Given the description of an element on the screen output the (x, y) to click on. 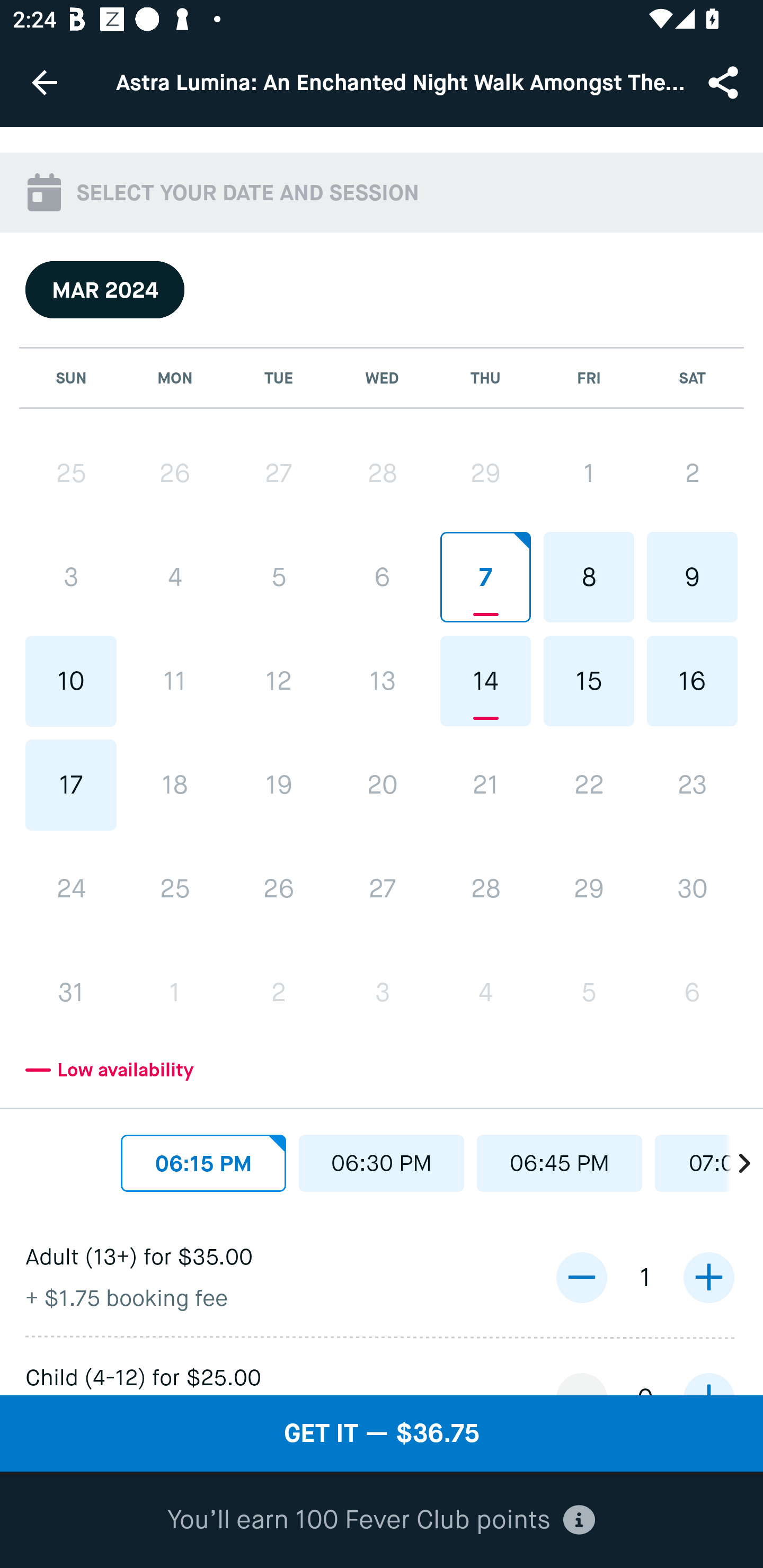
Navigate up (44, 82)
Share (724, 81)
MAR 2024 (104, 288)
25 (70, 473)
26 (174, 473)
27 (278, 473)
28 (382, 473)
29 (485, 473)
1 (588, 473)
2 (692, 473)
3 (70, 576)
4 (174, 576)
5 (278, 576)
6 (382, 576)
7 (485, 576)
8 (588, 576)
9 (692, 576)
10 (70, 681)
11 (174, 681)
12 (278, 681)
13 (382, 680)
14 (485, 680)
15 (588, 680)
16 (692, 680)
17 (70, 785)
18 (174, 785)
19 (278, 785)
20 (382, 784)
21 (485, 784)
22 (588, 784)
23 (692, 784)
24 (70, 888)
25 (174, 888)
26 (278, 888)
27 (382, 888)
28 (485, 888)
29 (588, 888)
30 (692, 888)
31 (70, 992)
1 (174, 992)
2 (278, 992)
3 (382, 992)
4 (485, 992)
5 (588, 992)
6 (692, 992)
chevron (734, 1158)
06:15 PM (203, 1163)
06:30 PM (381, 1163)
06:45 PM (559, 1163)
decrease (581, 1277)
increase (708, 1277)
GET IT — $36.75 (381, 1433)
decrease (581, 1519)
You’ll earn 100 Fever Club points (381, 1519)
